Given the description of an element on the screen output the (x, y) to click on. 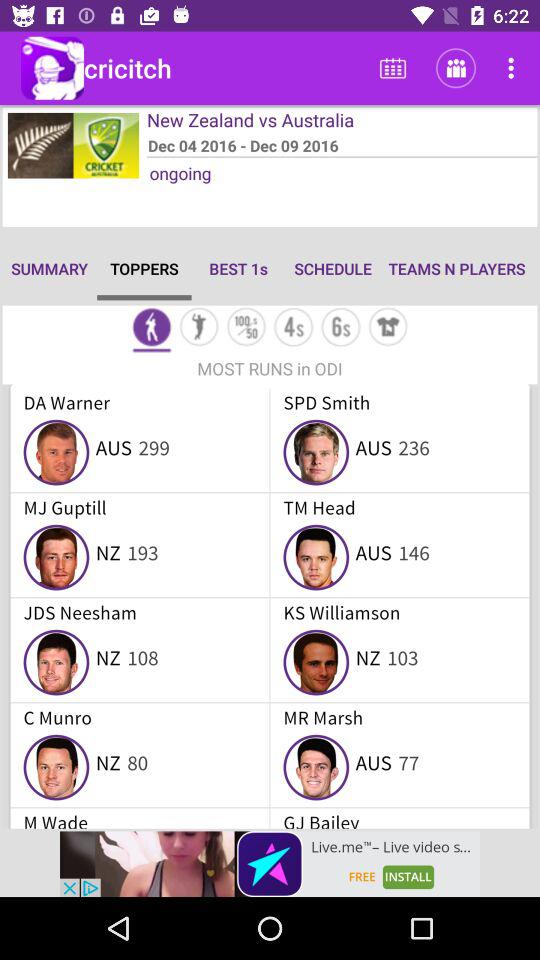
advertisement (270, 864)
